Given the description of an element on the screen output the (x, y) to click on. 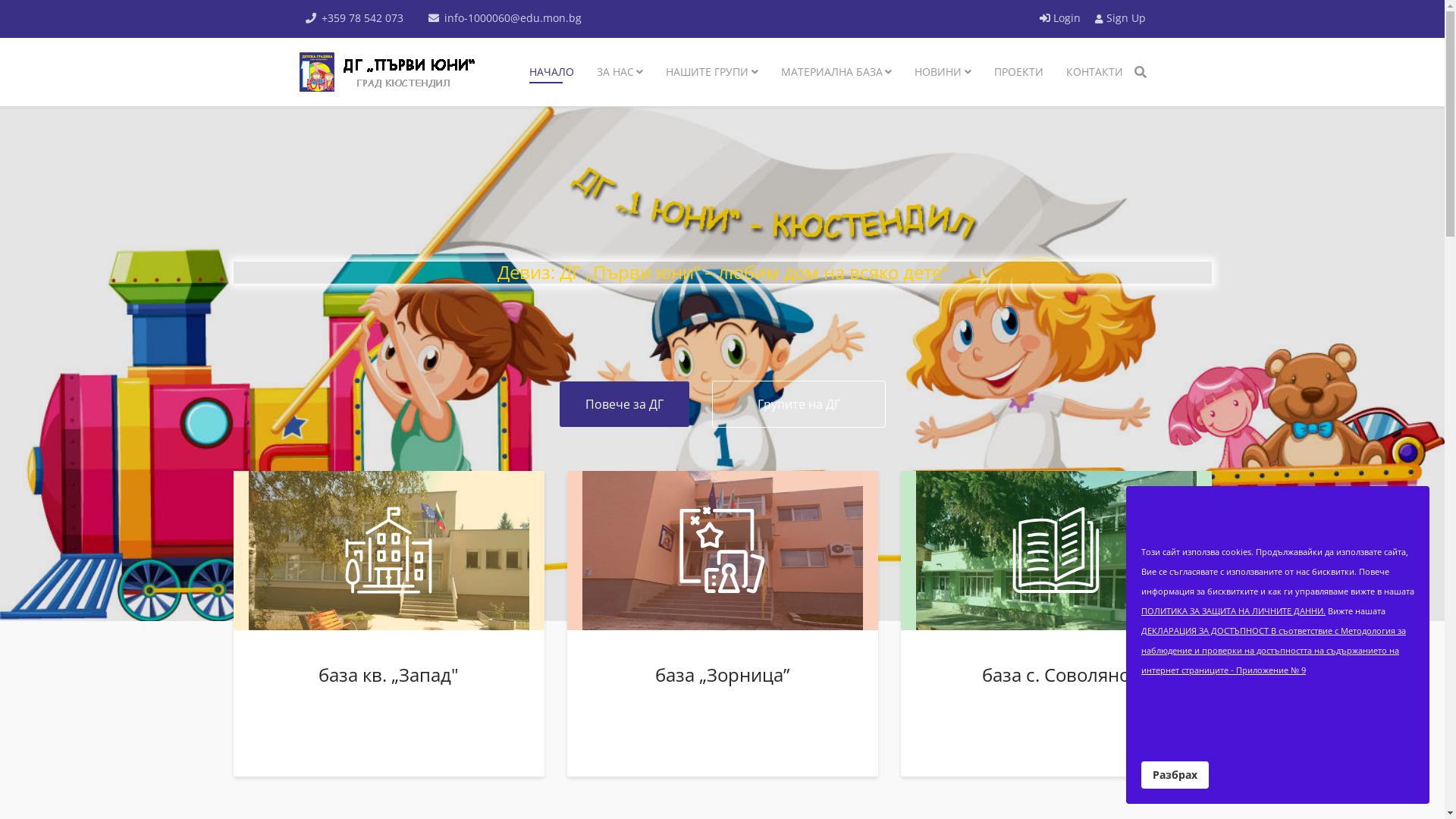
Login Element type: text (1060, 17)
Sign Up Element type: text (1120, 17)
info-1000060@edu.mon.bg Element type: text (512, 17)
+359 78 542 073 Element type: text (362, 17)
